Given the description of an element on the screen output the (x, y) to click on. 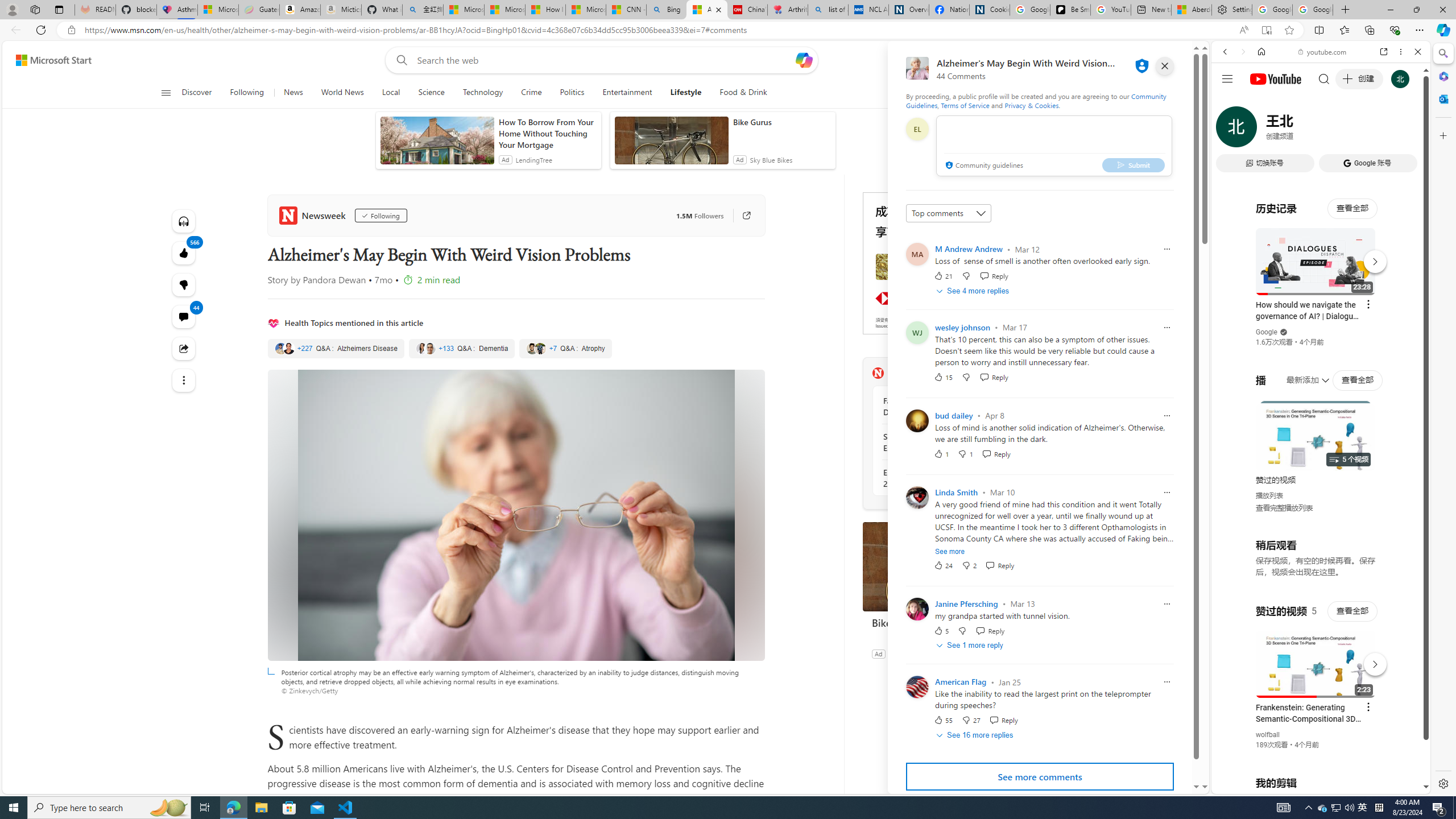
News (292, 92)
55 Like (942, 720)
Alzheimers Disease (335, 348)
Ad (877, 653)
youtube.com (1322, 51)
Microsoft rewards (1129, 60)
Community Guidelines (1035, 100)
Enter your search term (603, 59)
Preferences (1403, 129)
Profile Picture (916, 686)
To get missing image descriptions, open the context menu. (983, 92)
